Given the description of an element on the screen output the (x, y) to click on. 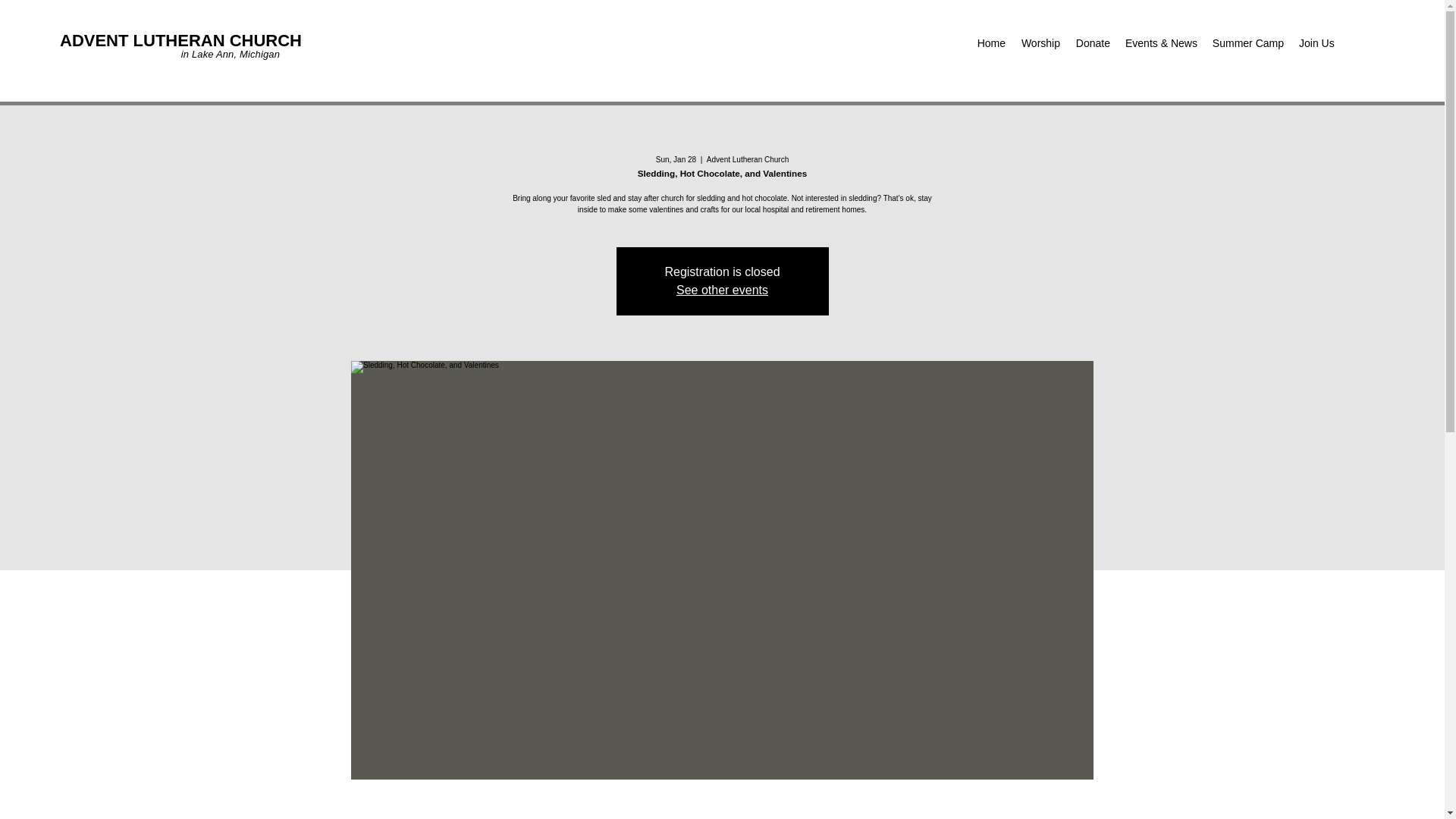
Home (991, 42)
Join Us (1315, 42)
Worship (1040, 42)
ADVENT LUTHERAN CHURCH (180, 40)
See other events (722, 289)
Donate (1092, 42)
Summer Camp (1247, 42)
